Given the description of an element on the screen output the (x, y) to click on. 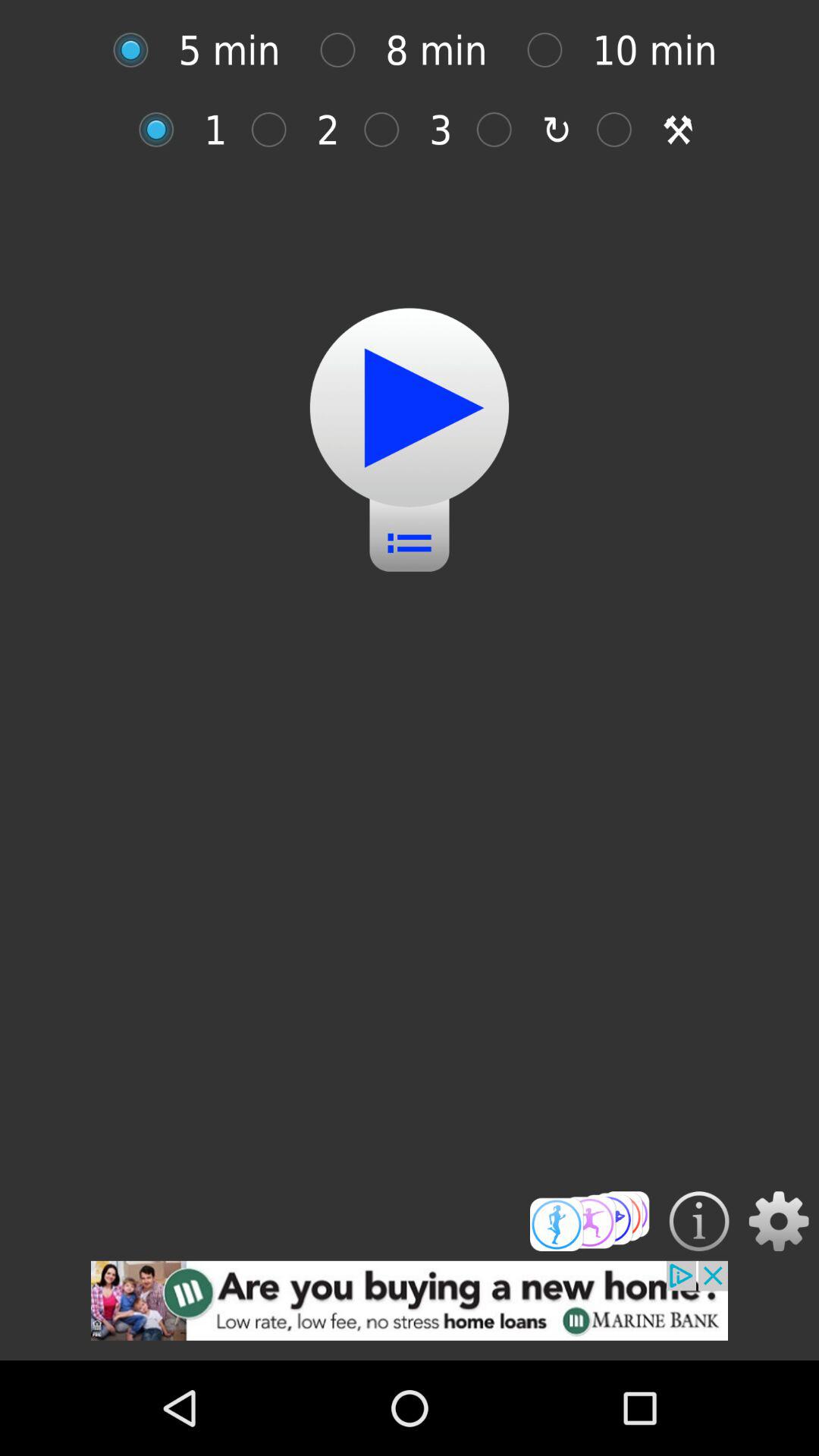
filter (389, 129)
